Given the description of an element on the screen output the (x, y) to click on. 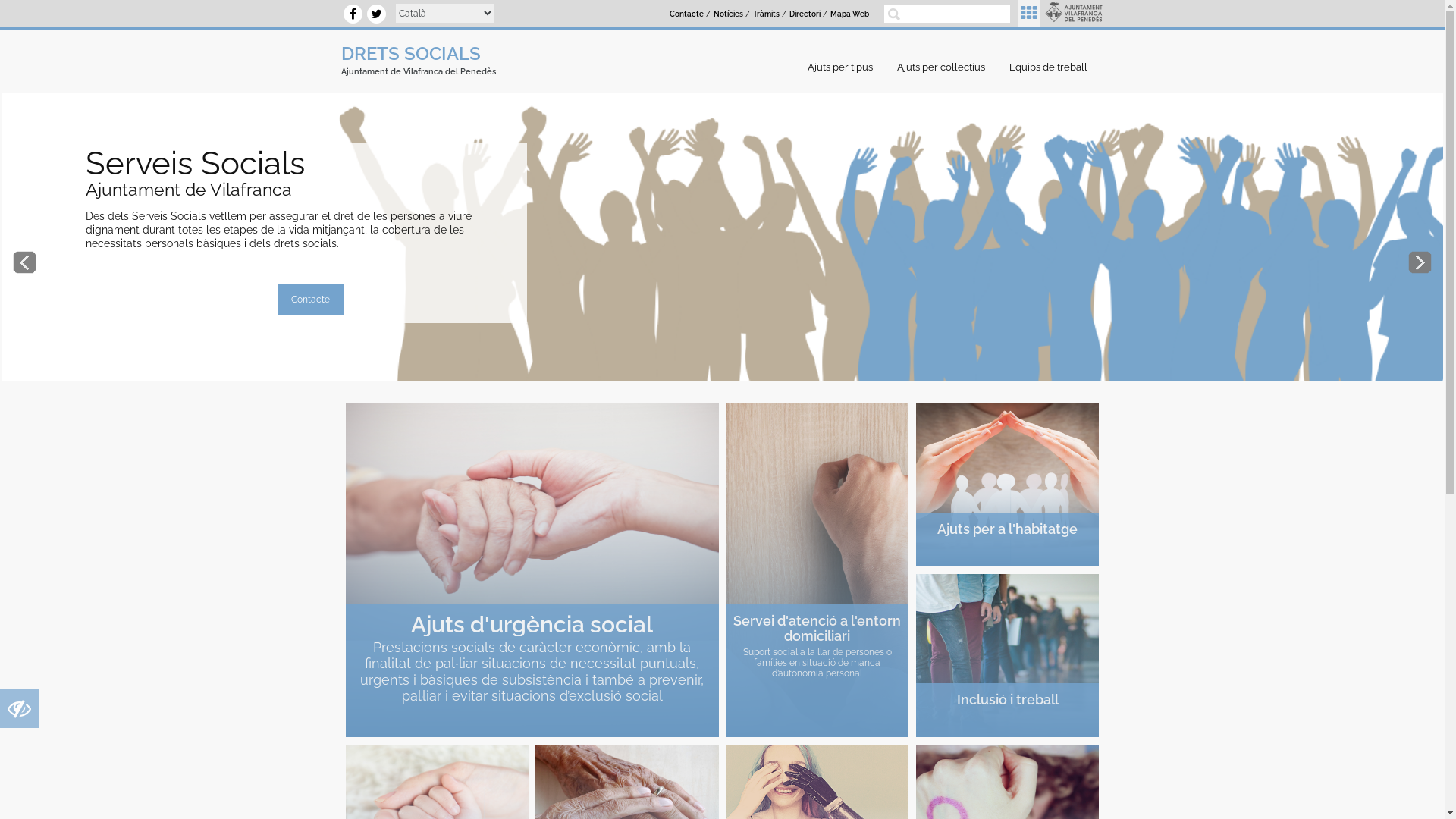
Contacte Element type: text (310, 299)
Anterior Element type: text (24, 262)
DRETS SOCIALS Element type: text (410, 53)
Mapa Web Element type: text (849, 14)
Ajuda a domicili Element type: hover (824, 570)
Ajuts per a l'habitatge Element type: hover (1007, 484)
Ajuts per tipus Element type: text (843, 66)
Directori Element type: text (804, 14)
Accessibilitat Element type: hover (19, 712)
Equips de treball Element type: text (1051, 66)
Ajuts per a l'habitatge Element type: text (1007, 527)
Contacte Element type: text (686, 14)
